Given the description of an element on the screen output the (x, y) to click on. 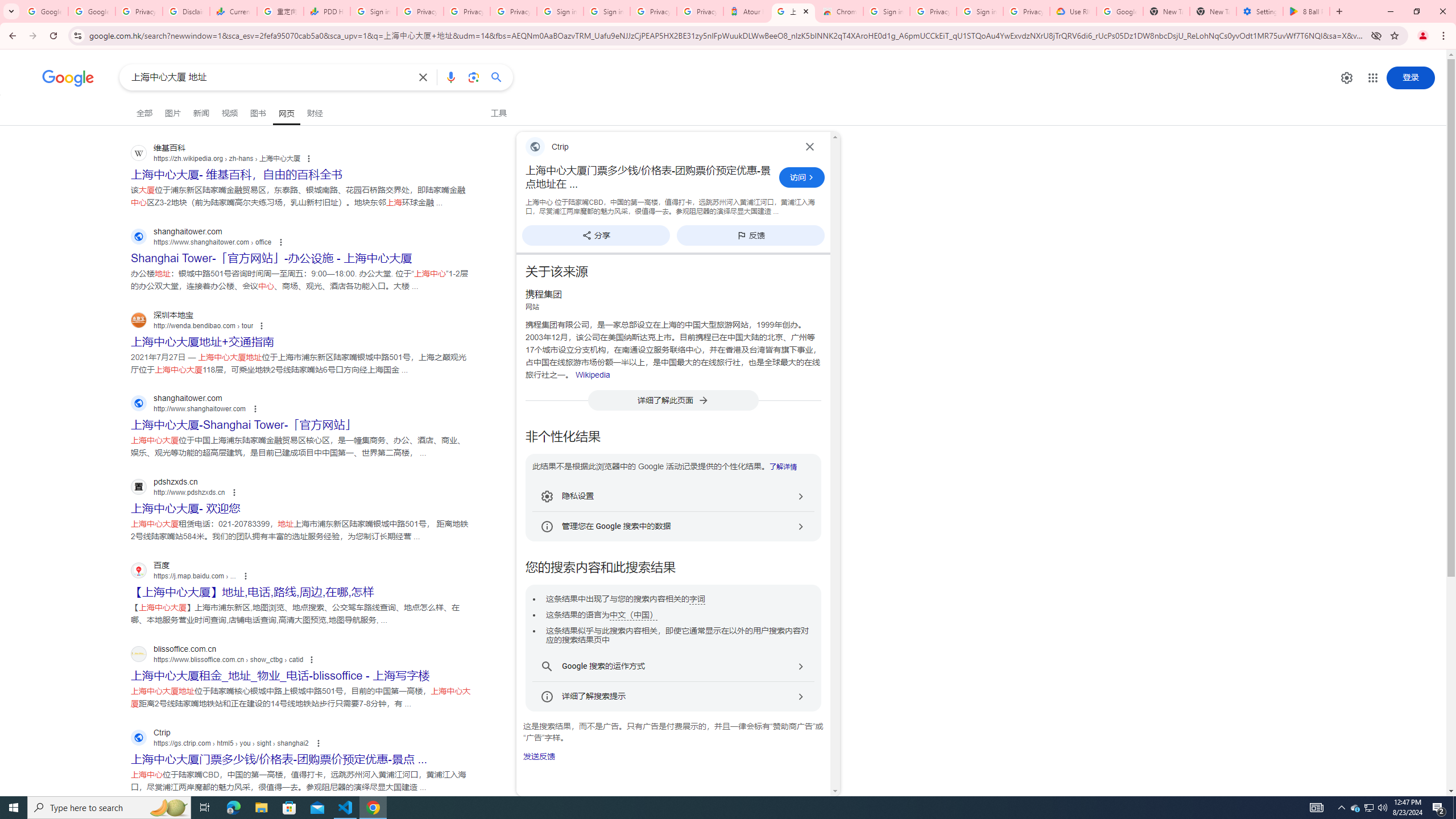
Currencies - Google Finance (233, 11)
Sign in - Google Accounts (886, 11)
Ctrip (658, 146)
